Given the description of an element on the screen output the (x, y) to click on. 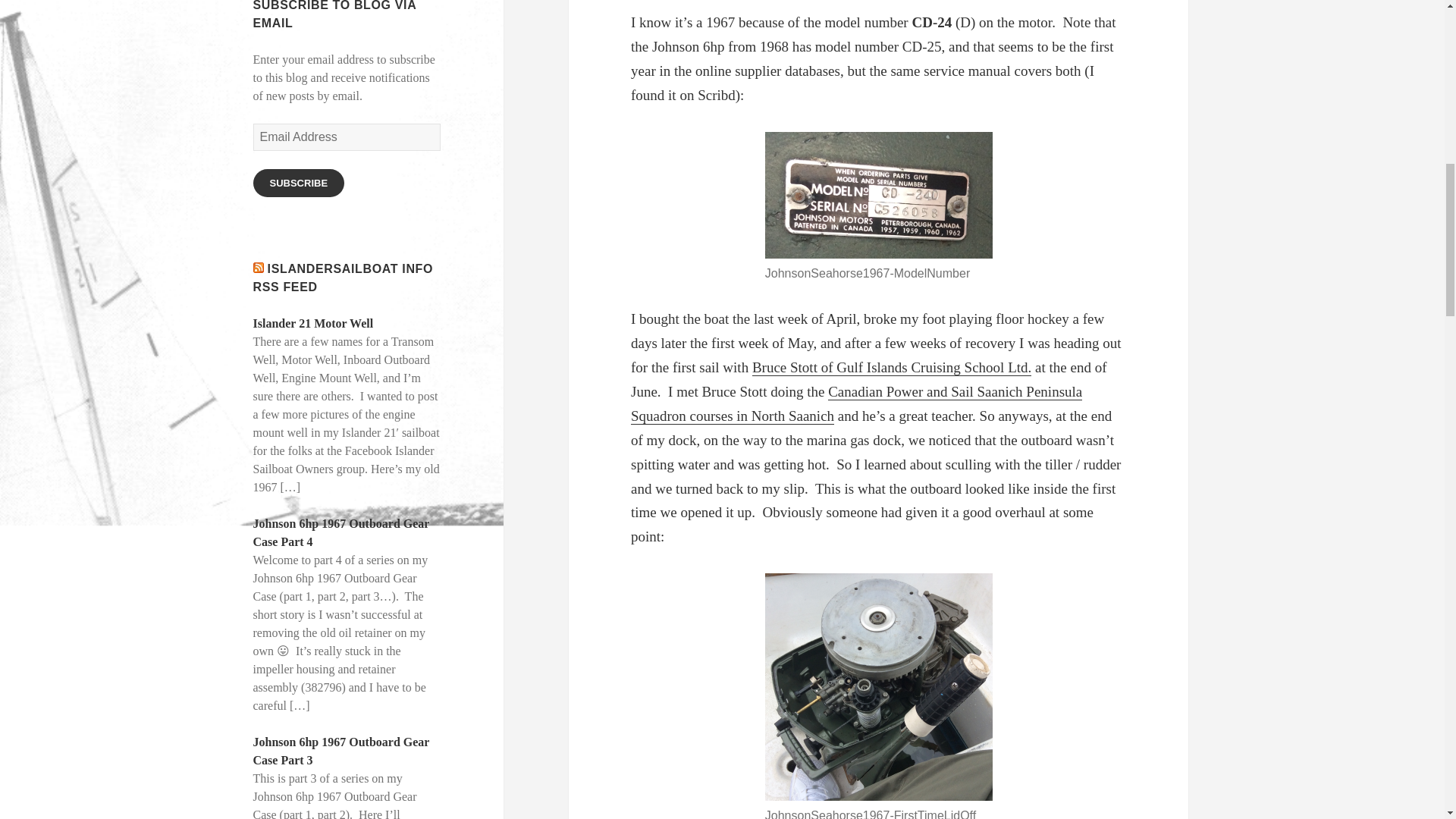
Islander 21 Motor Well (313, 323)
Johnson 6hp 1967 Outboard Gear Case Part 3 (341, 750)
ISLANDERSAILBOAT INFO RSS FEED (343, 277)
Johnson 6hp 1967 Outboard Gear Case Part 4 (341, 531)
SUBSCRIBE (299, 182)
